Given the description of an element on the screen output the (x, y) to click on. 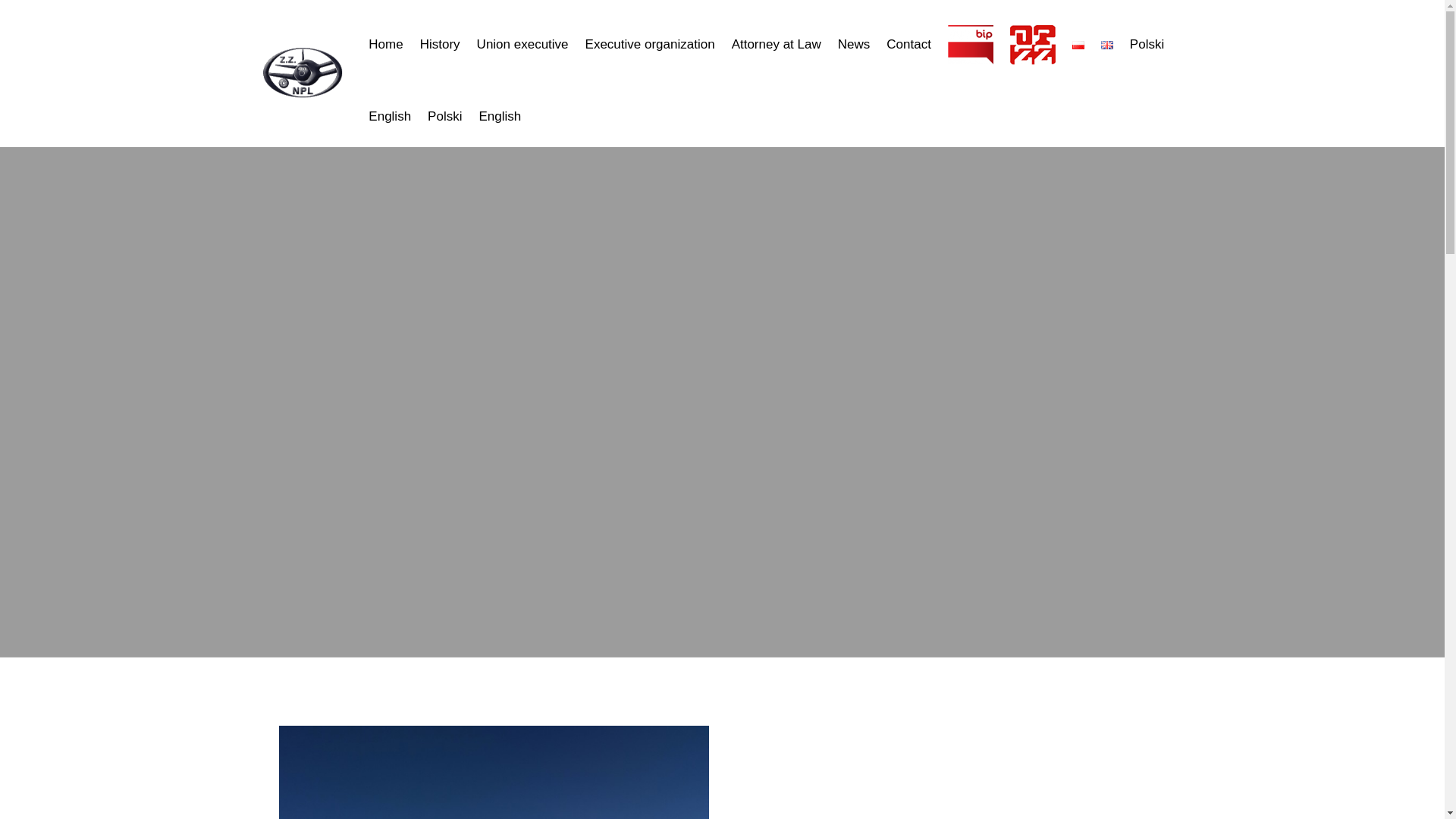
Attorney at Law (776, 44)
Executive organization (649, 44)
Union executive (523, 44)
